Given the description of an element on the screen output the (x, y) to click on. 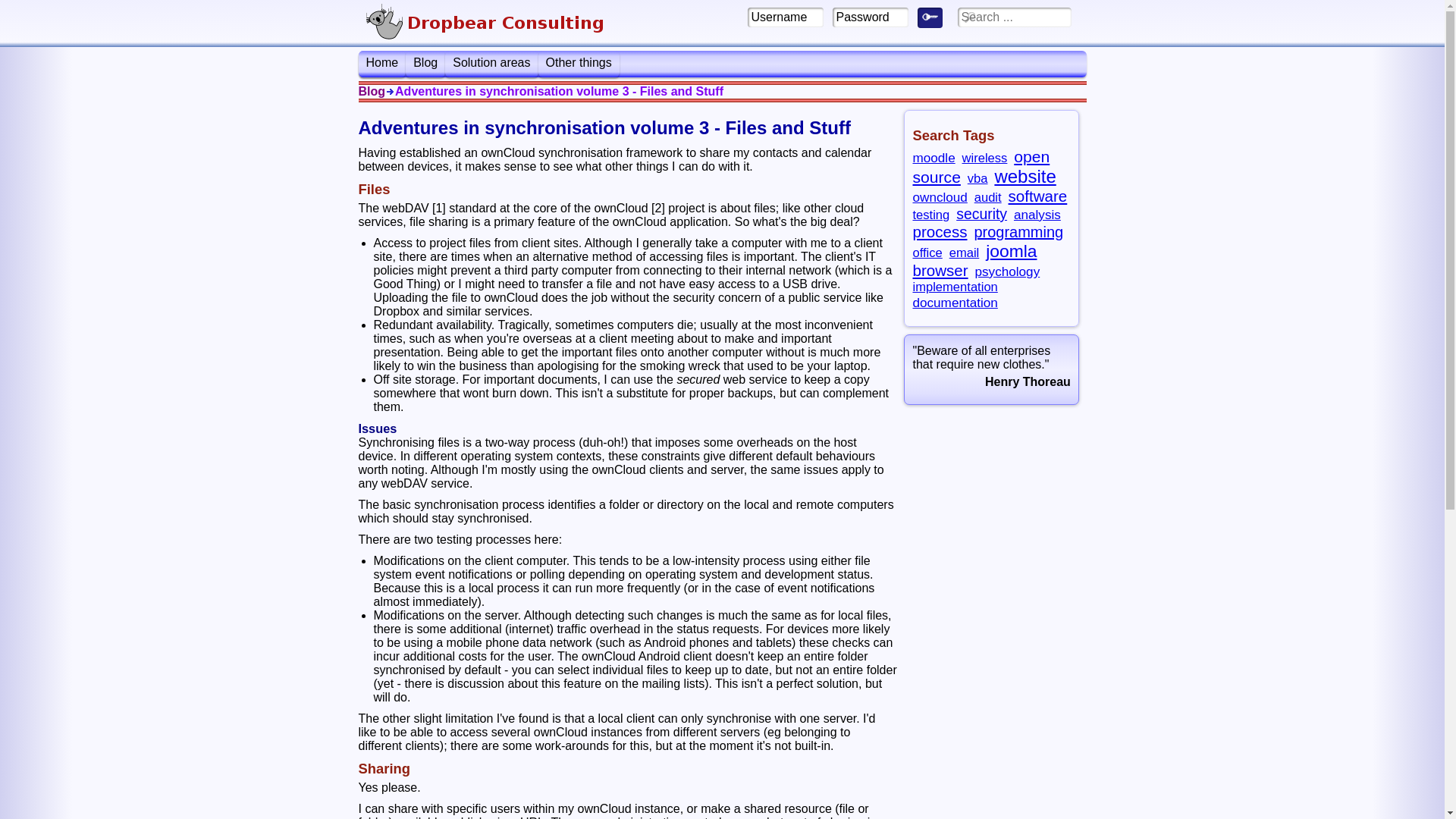
joomla Element type: text (1010, 250)
software Element type: text (1037, 195)
email Element type: text (964, 252)
testing Element type: text (930, 214)
browser Element type: text (939, 270)
Home Element type: text (381, 63)
office Element type: text (926, 252)
psychology Element type: text (1007, 271)
documentation Element type: text (954, 302)
Blog Element type: text (425, 63)
audit Element type: text (987, 197)
Other things Element type: text (578, 63)
security Element type: text (981, 213)
implementation Element type: text (954, 286)
process Element type: text (939, 231)
Solution areas Element type: text (491, 63)
wireless Element type: text (984, 157)
owncloud Element type: text (939, 196)
Blog Element type: text (371, 91)
vba Element type: text (977, 178)
open source Element type: text (980, 166)
moodle Element type: text (933, 157)
programming Element type: text (1018, 231)
website Element type: text (1024, 176)
analysis Element type: text (1036, 214)
